Given the description of an element on the screen output the (x, y) to click on. 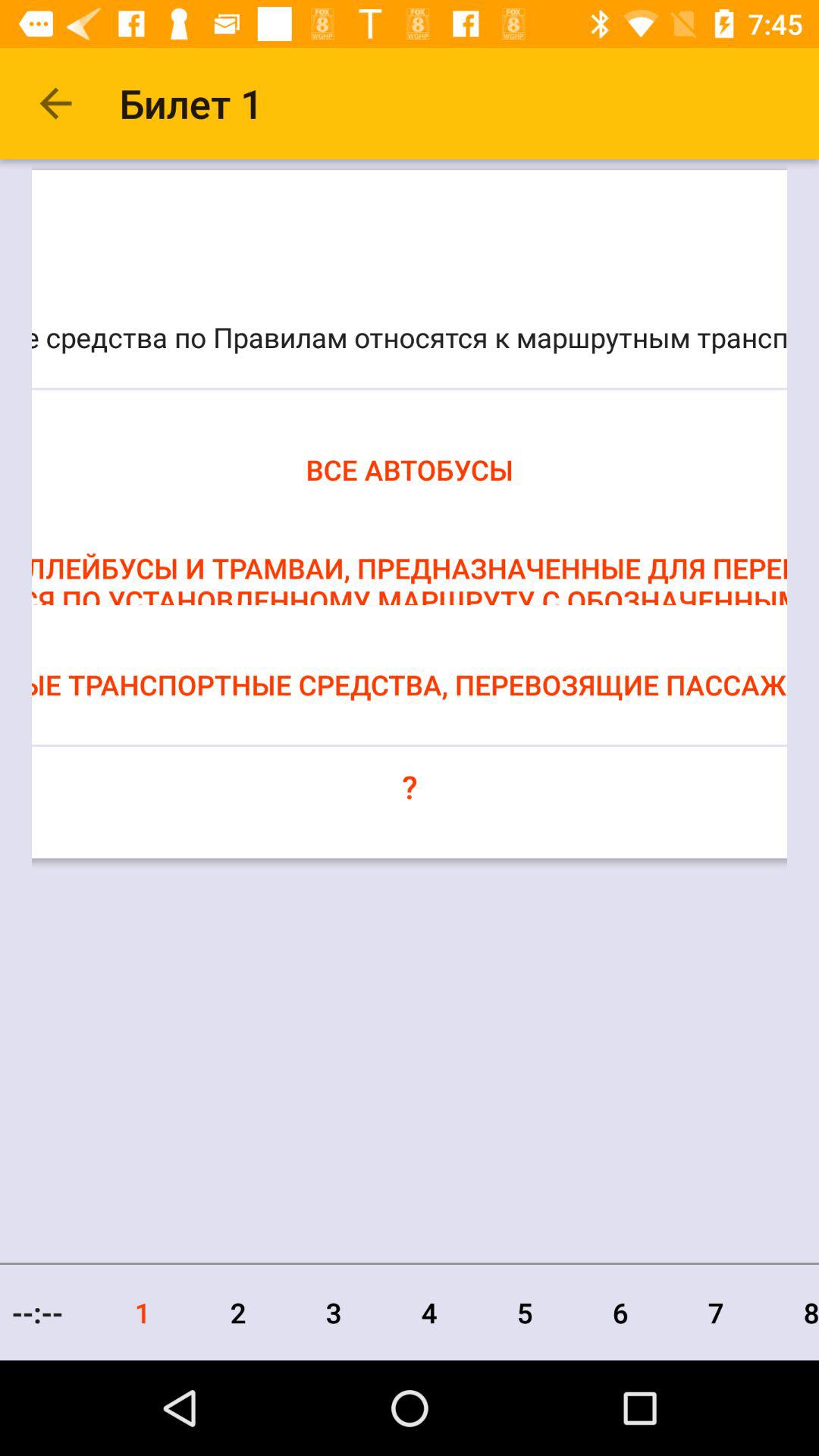
turn on icon to the left of the 3 (238, 1312)
